Given the description of an element on the screen output the (x, y) to click on. 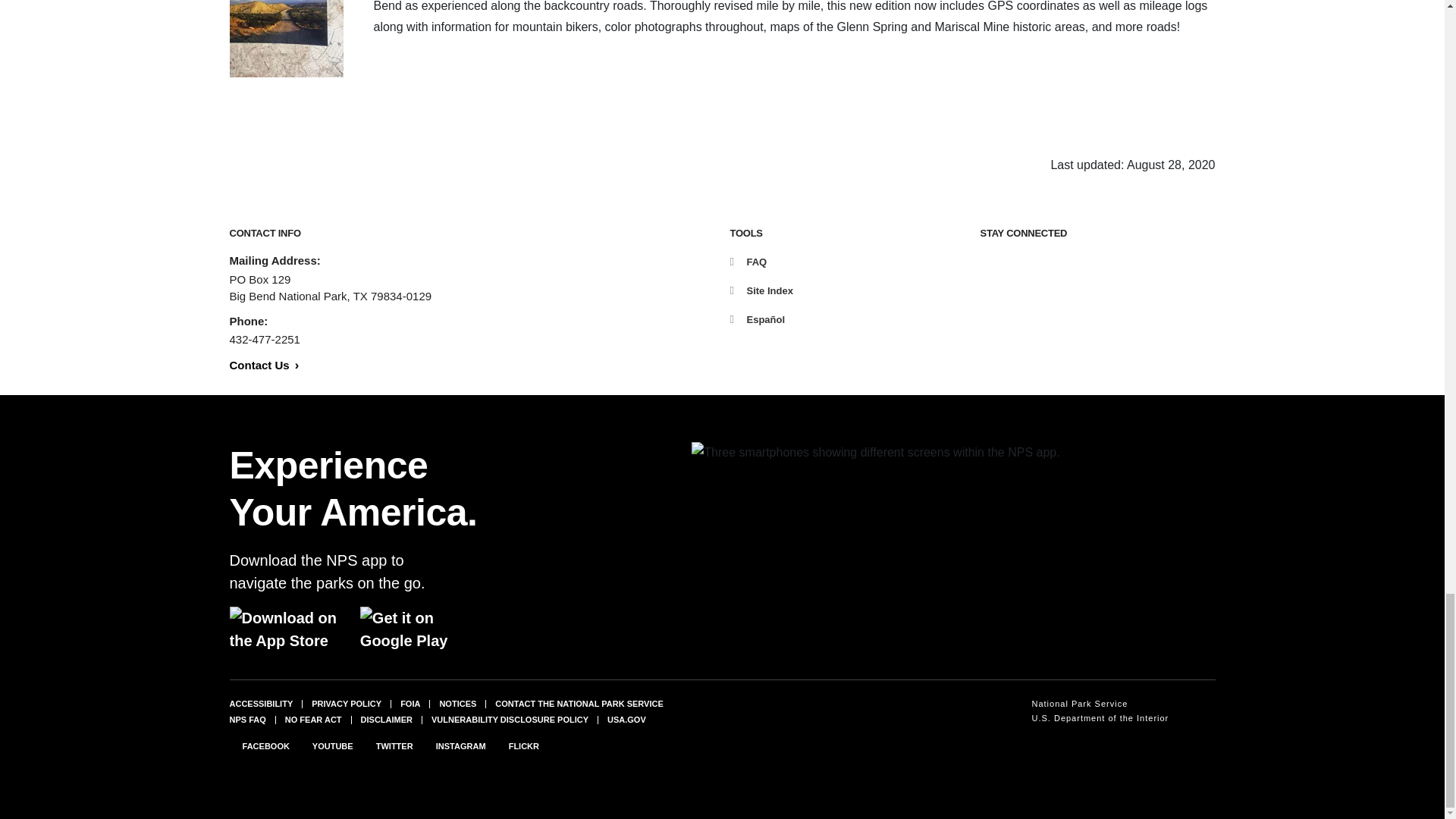
National Park Service (1099, 703)
road guide to backcountry roads of Big Bend National Park (285, 38)
FAQ (748, 261)
Site Index (760, 290)
National Park Service frequently asked questions (246, 718)
U.S. Department of the Interior (1099, 718)
Contact Us (263, 364)
